Given the description of an element on the screen output the (x, y) to click on. 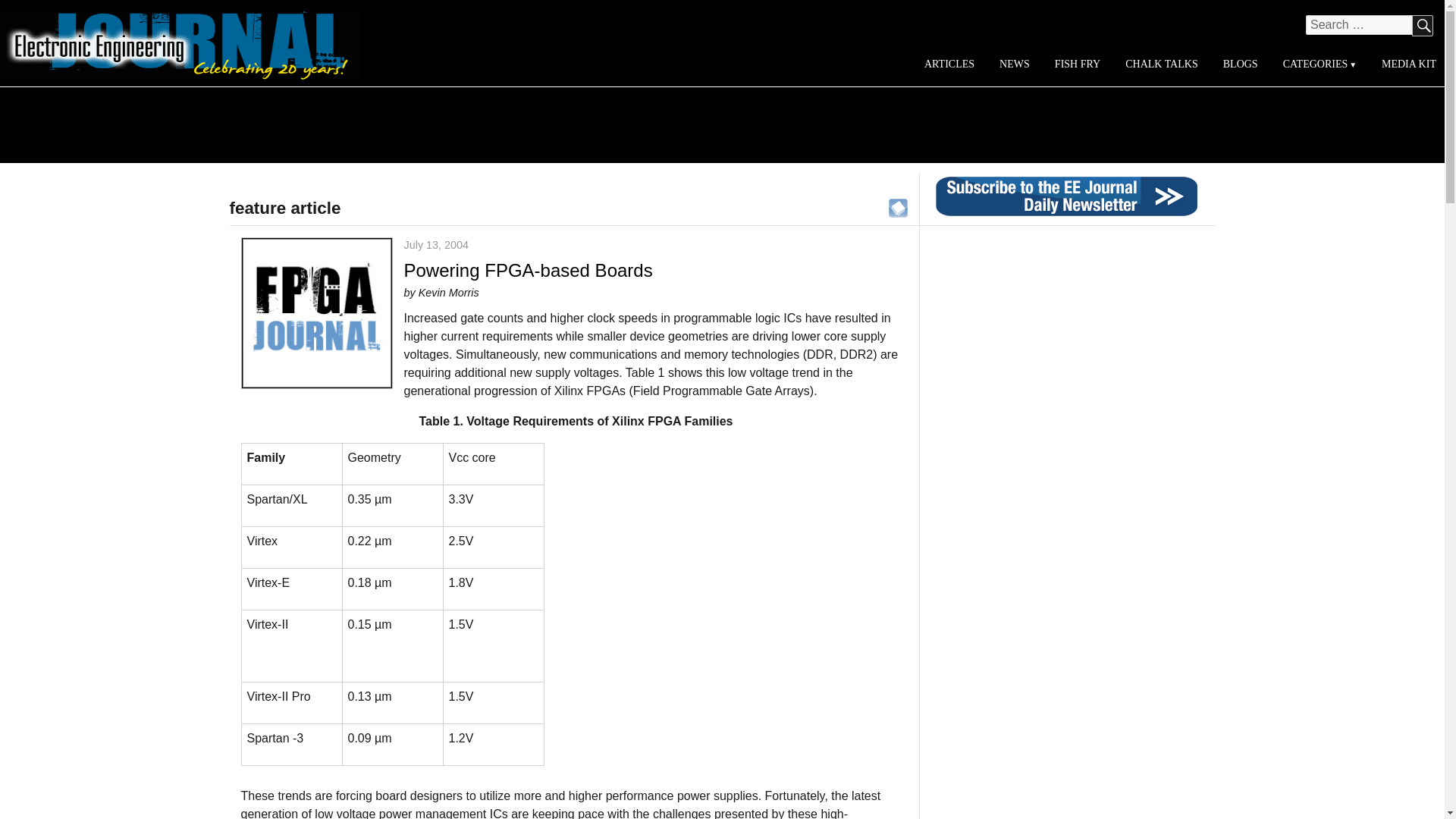
ARTICLES (949, 63)
NEWS (1014, 63)
CHALK TALKS (1161, 63)
BLOGS (1239, 63)
FPGA (898, 206)
FISH FRY (1077, 63)
CATEGORIES (1318, 63)
